Given the description of an element on the screen output the (x, y) to click on. 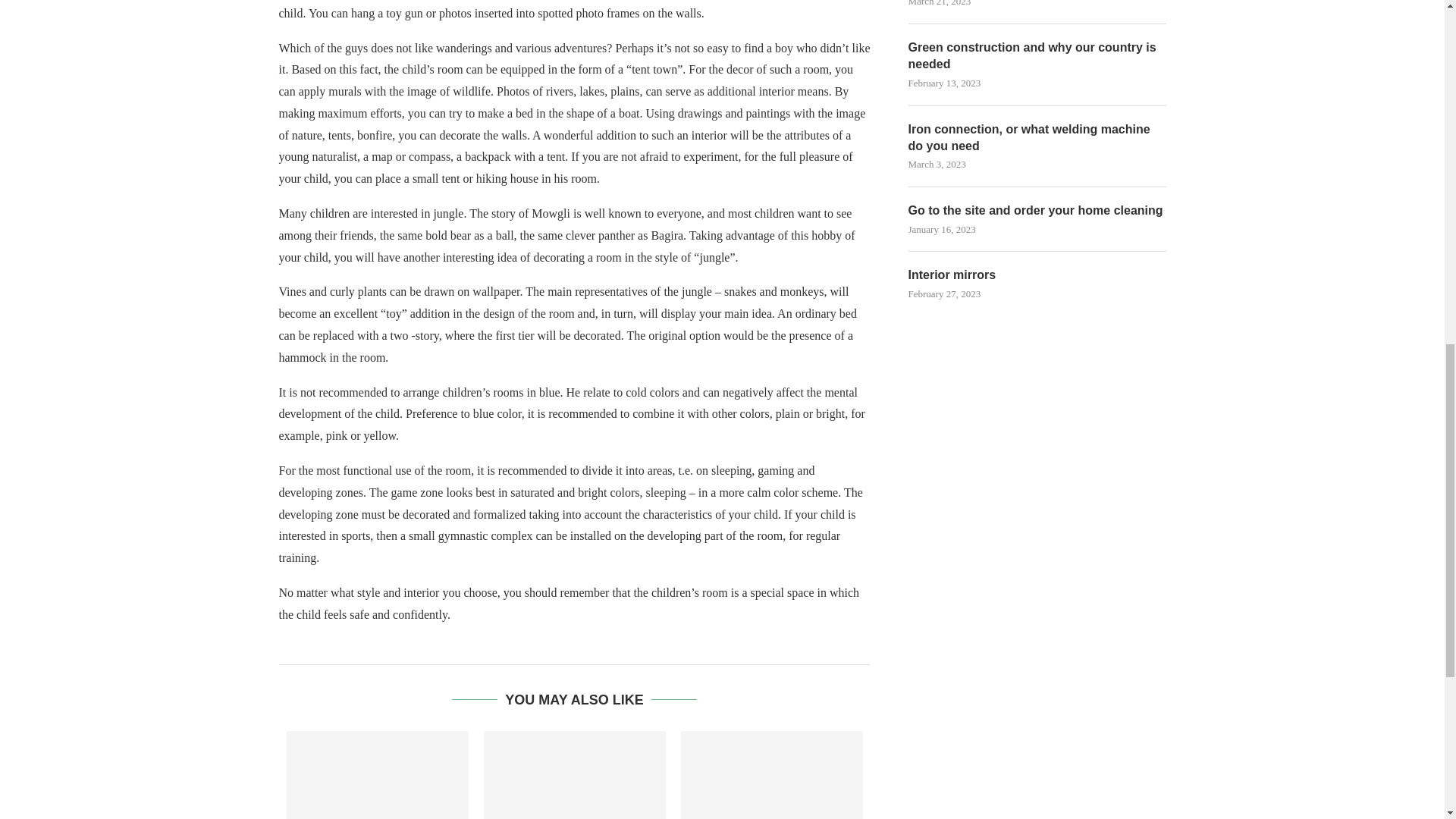
Summer skin care rules and recommendations (574, 775)
Daytime makeup: what you need to know and rules (772, 775)
Curly hair care method: rules, features and tips (377, 775)
